Given the description of an element on the screen output the (x, y) to click on. 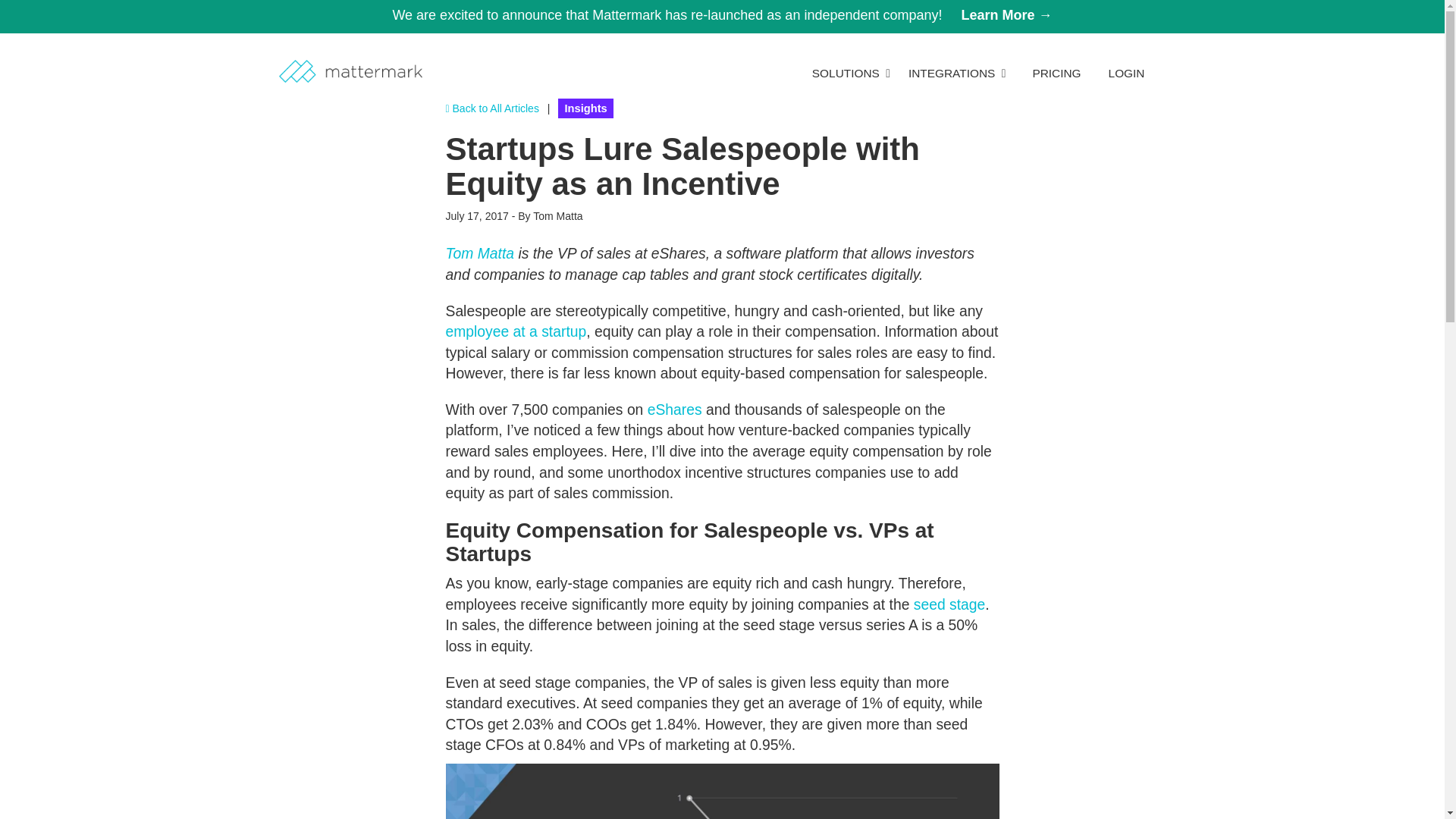
Mattermark Blog (491, 108)
seed stage (949, 604)
INTEGRATIONS   (956, 72)
eShares (674, 409)
Insights (584, 107)
employee at a startup (515, 331)
Back to All Articles (491, 108)
Tom Matta (480, 253)
PRICING (1056, 72)
SOLUTIONS   (851, 72)
